Given the description of an element on the screen output the (x, y) to click on. 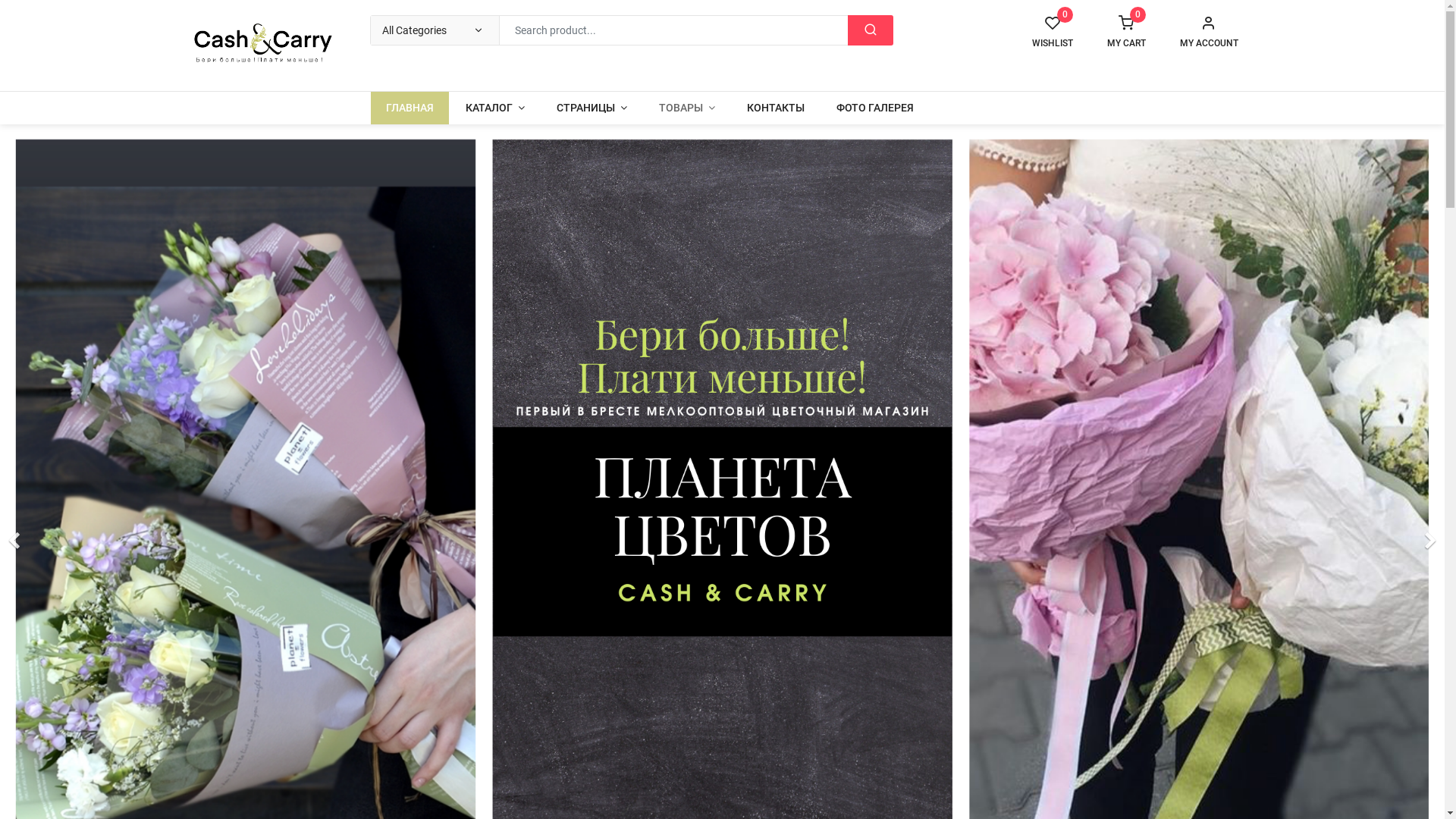
SEARCH Element type: text (870, 30)
WISHLIST
0 Element type: text (1051, 31)
MY CART
0 Element type: text (1126, 31)
MY ACCOUNT Element type: text (1208, 31)
